Given the description of an element on the screen output the (x, y) to click on. 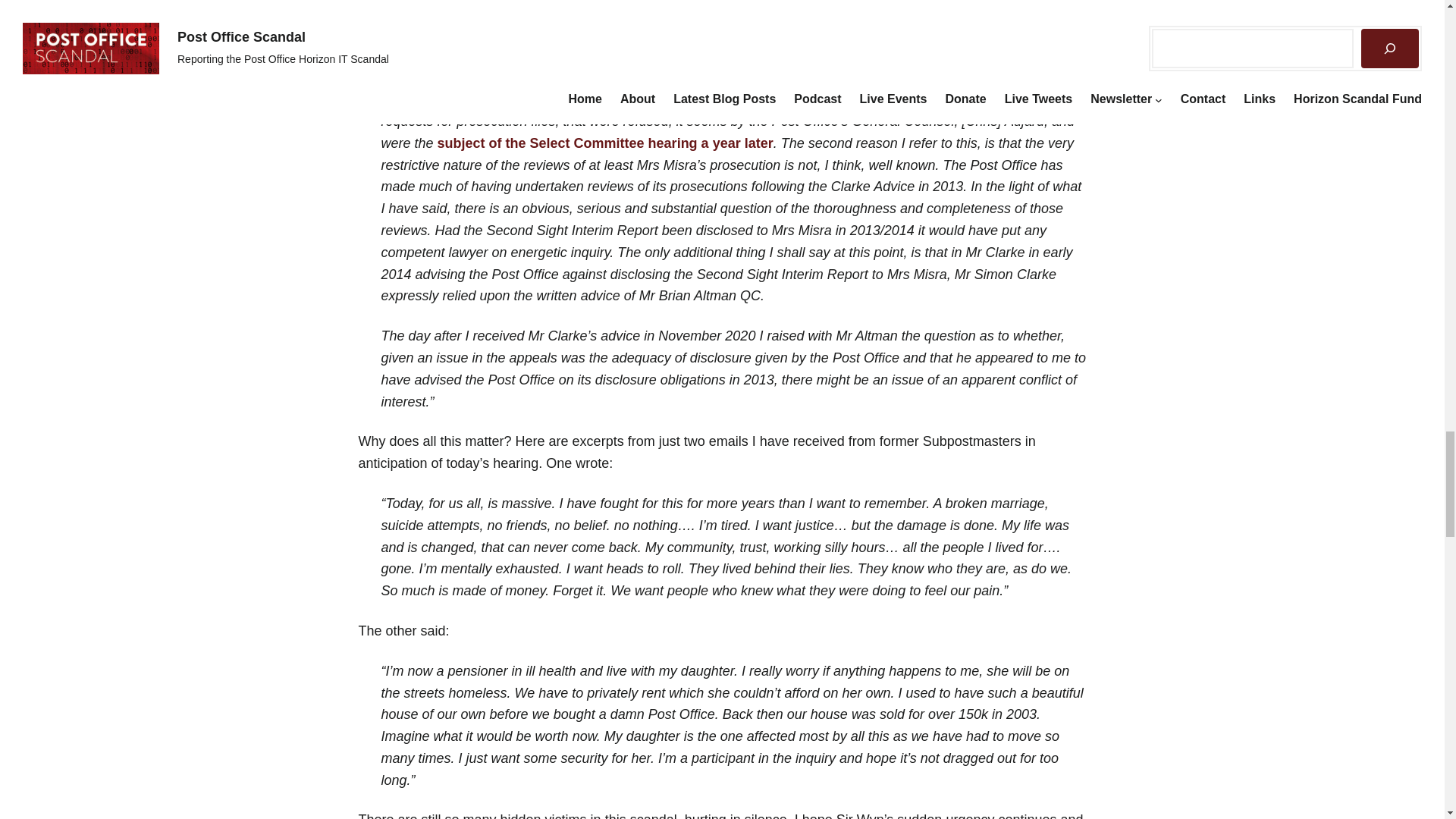
subject of the Select Committee hearing a year later (605, 142)
